Given the description of an element on the screen output the (x, y) to click on. 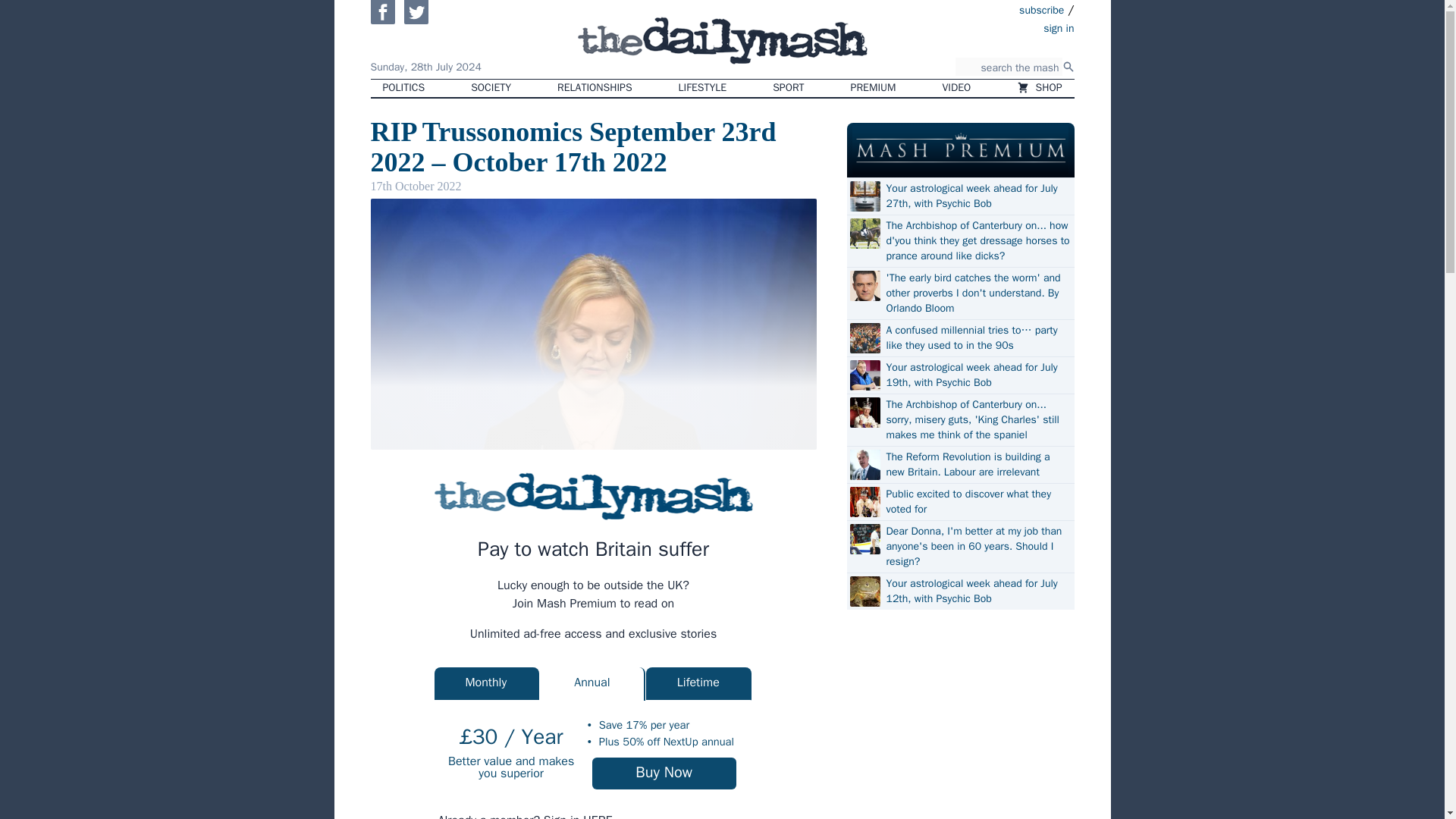
LIFESTYLE (702, 88)
sign in (970, 27)
SPORT (787, 88)
POLITICS (402, 88)
PREMIUM (873, 88)
SOCIETY (490, 88)
subscribe (1041, 9)
VIDEO (957, 88)
Your astrological week ahead for July 19th, with Psychic Bob (977, 375)
Buy Now (664, 773)
RELATIONSHIPS (593, 88)
Your astrological week ahead for July 27th, with Psychic Bob (977, 195)
